Given the description of an element on the screen output the (x, y) to click on. 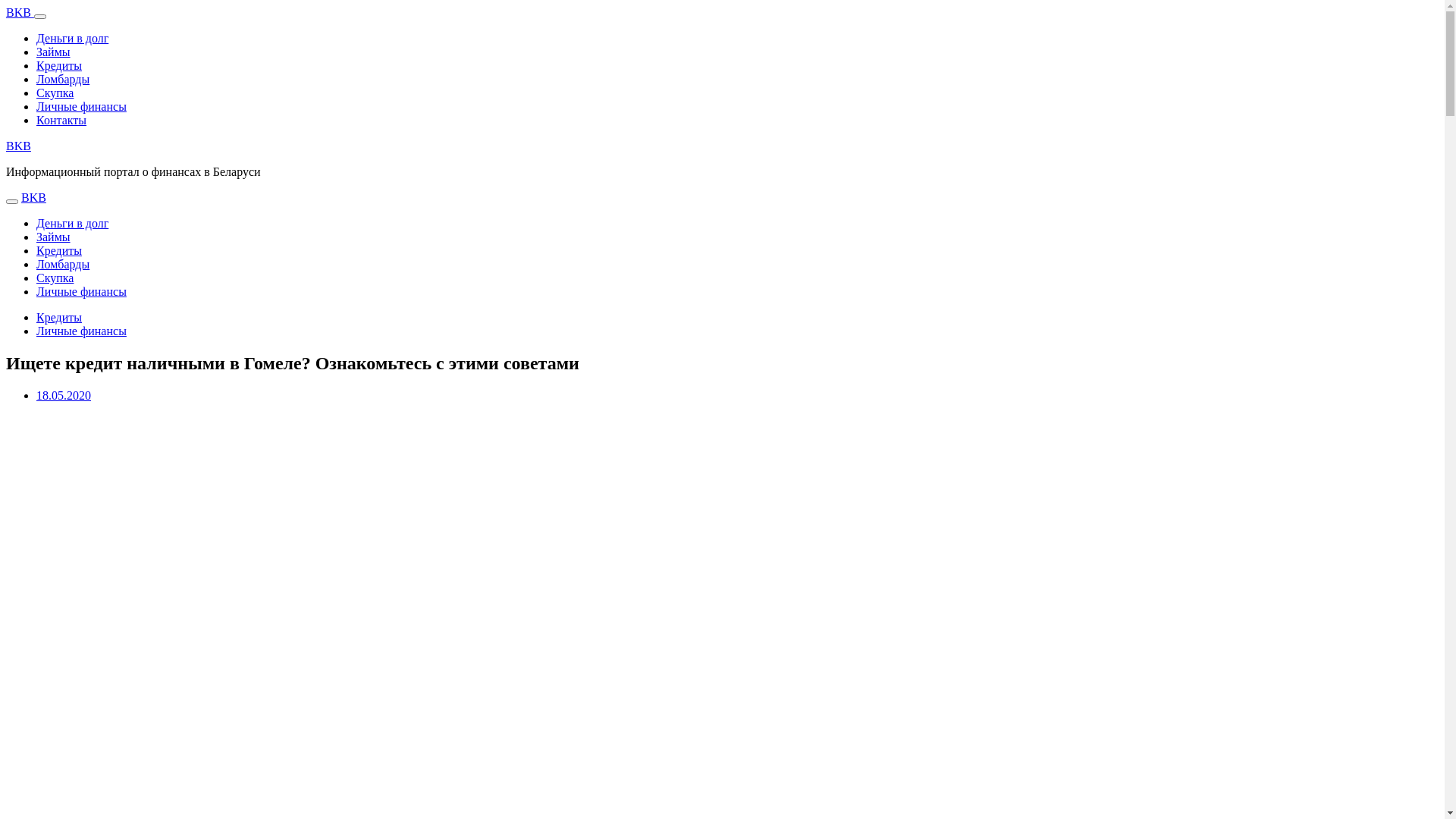
BKB Element type: text (20, 12)
18.05.2020 Element type: text (63, 395)
BKB Element type: text (18, 145)
BKB Element type: text (33, 197)
